Given the description of an element on the screen output the (x, y) to click on. 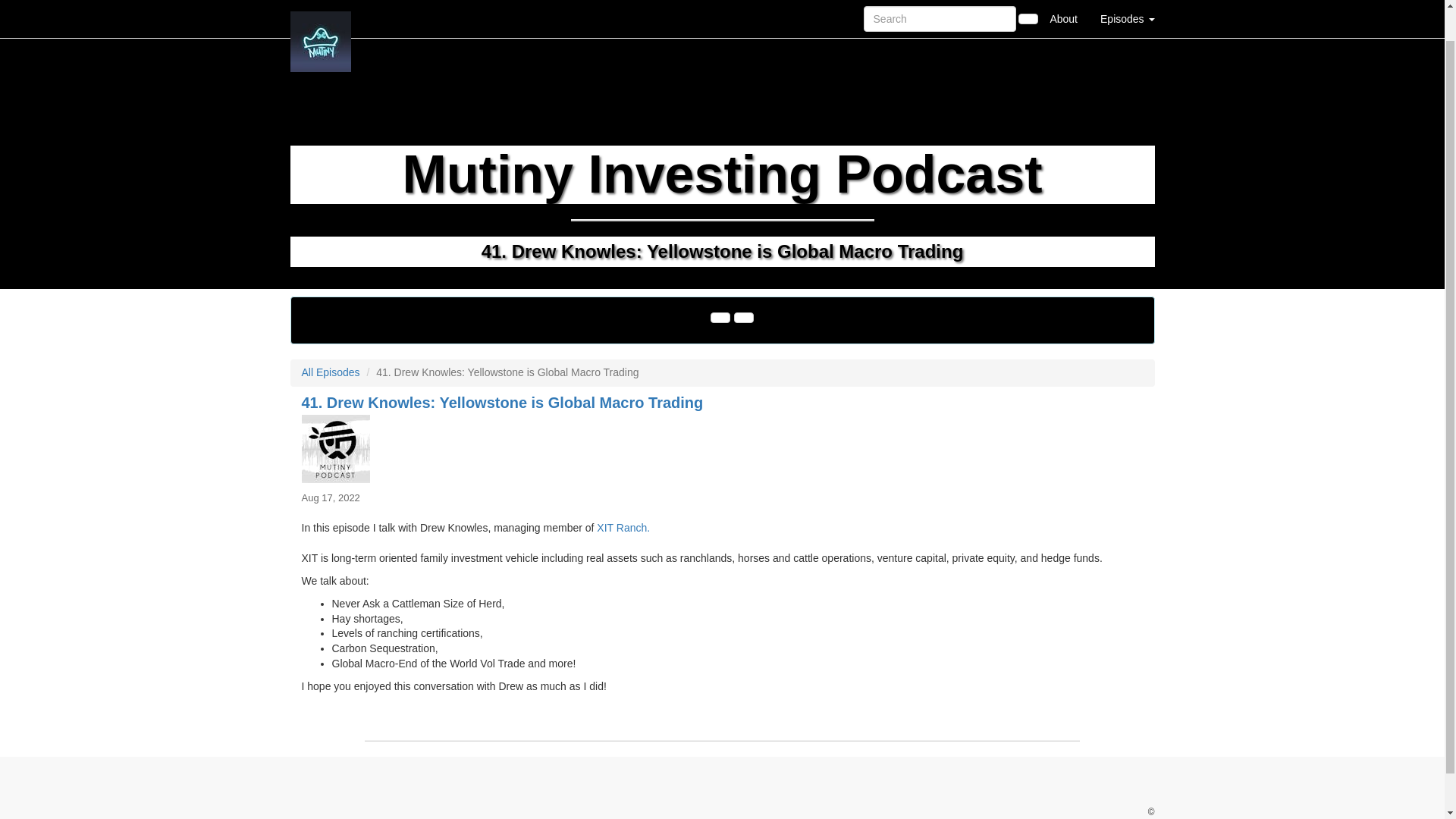
Episodes (1127, 2)
Home Page (320, 2)
41. Drew Knowles: Yellowstone is Global Macro Trading (721, 448)
About (1063, 2)
